Given the description of an element on the screen output the (x, y) to click on. 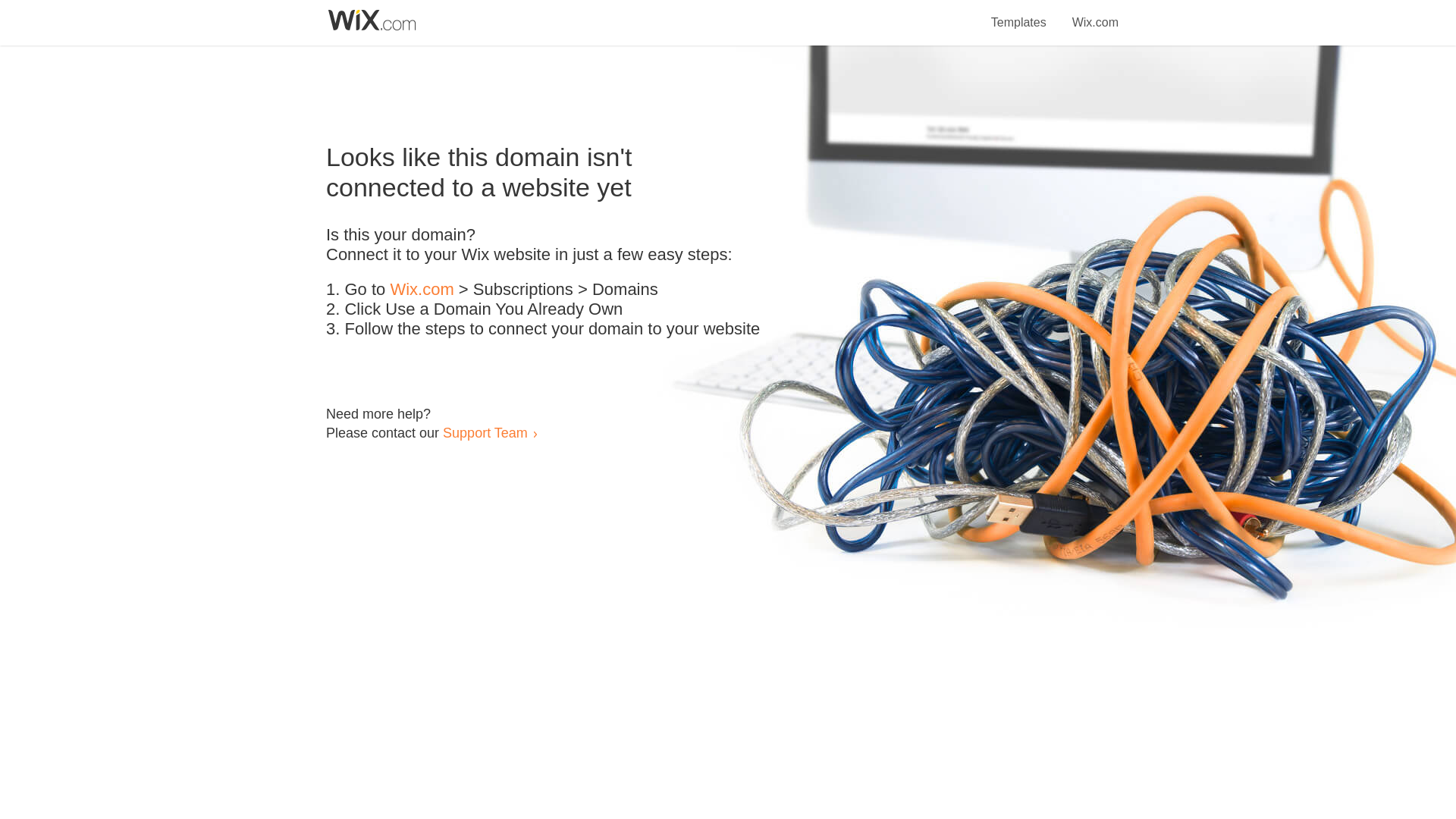
Templates (1018, 14)
Support Team (484, 432)
Wix.com (421, 289)
Wix.com (1095, 14)
